Given the description of an element on the screen output the (x, y) to click on. 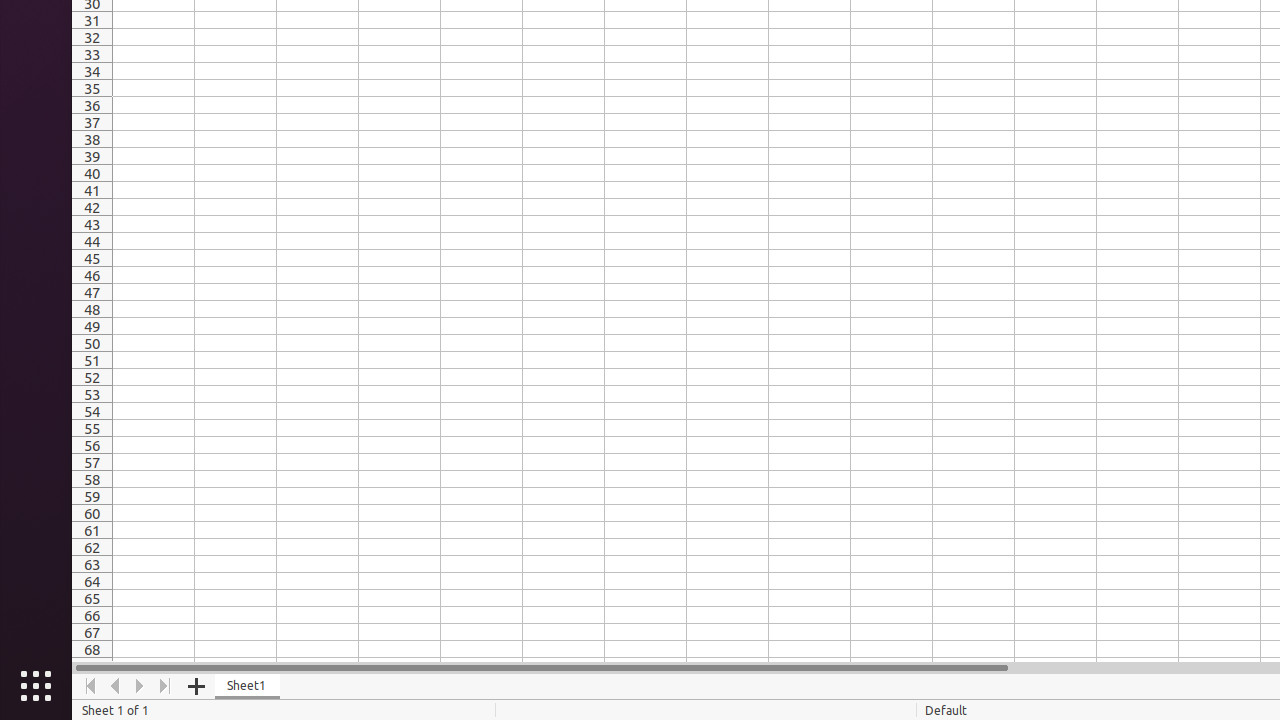
Move Right Element type: push-button (140, 686)
Move Left Element type: push-button (115, 686)
Move To Home Element type: push-button (90, 686)
Show Applications Element type: toggle-button (36, 686)
Sheet1 Element type: page-tab (247, 686)
